Given the description of an element on the screen output the (x, y) to click on. 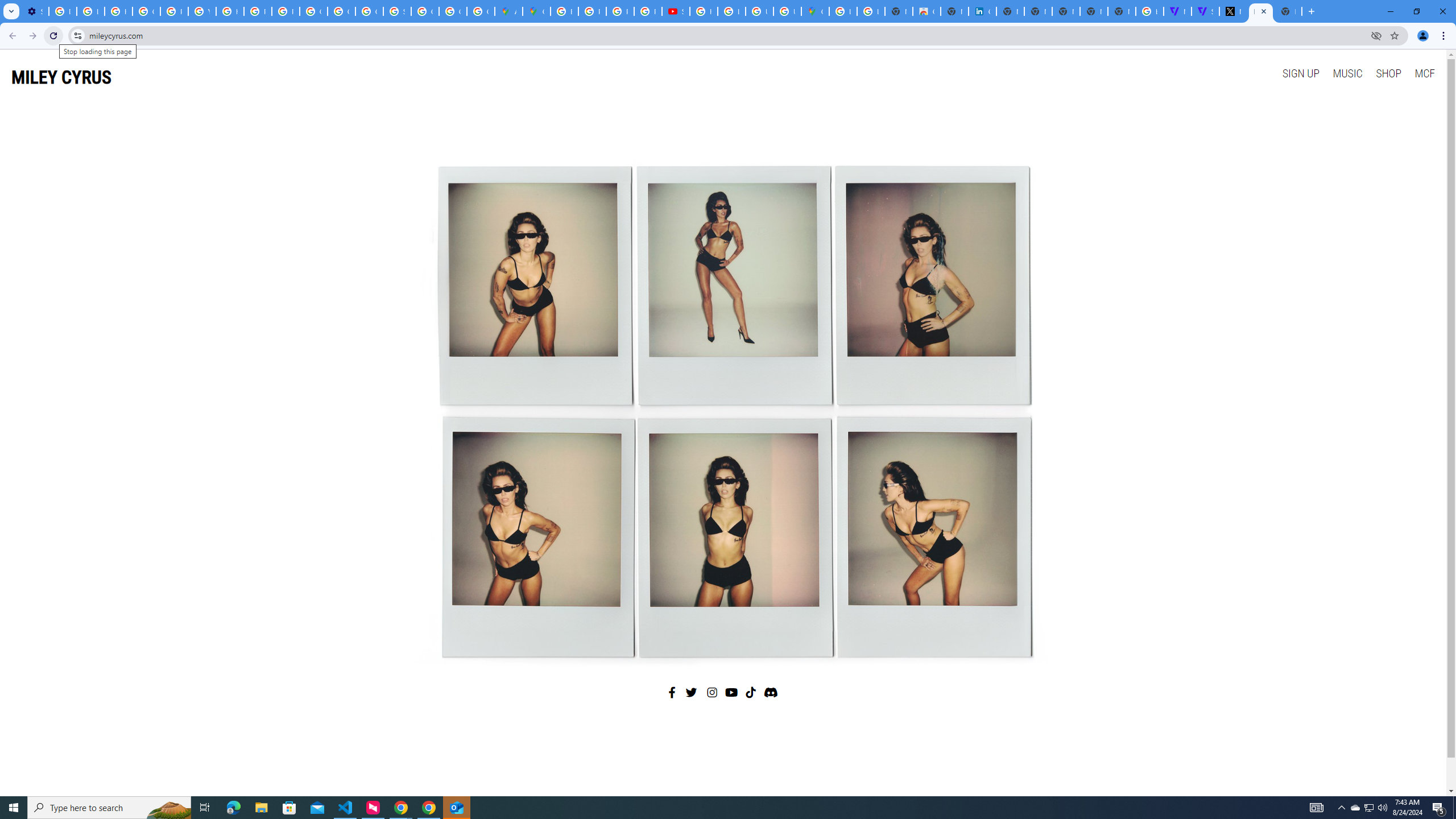
Instagram (712, 692)
Privacy Help Center - Policies Help (174, 11)
Privacy Help Center - Policies Help (592, 11)
Privacy Help Center - Policies Help (257, 11)
MCF (1424, 73)
Google Maps (815, 11)
Blogger Policies and Guidelines - Transparency Center (564, 11)
Facebook (671, 692)
Google Maps (536, 11)
Miley Cyrus (722, 407)
